Given the description of an element on the screen output the (x, y) to click on. 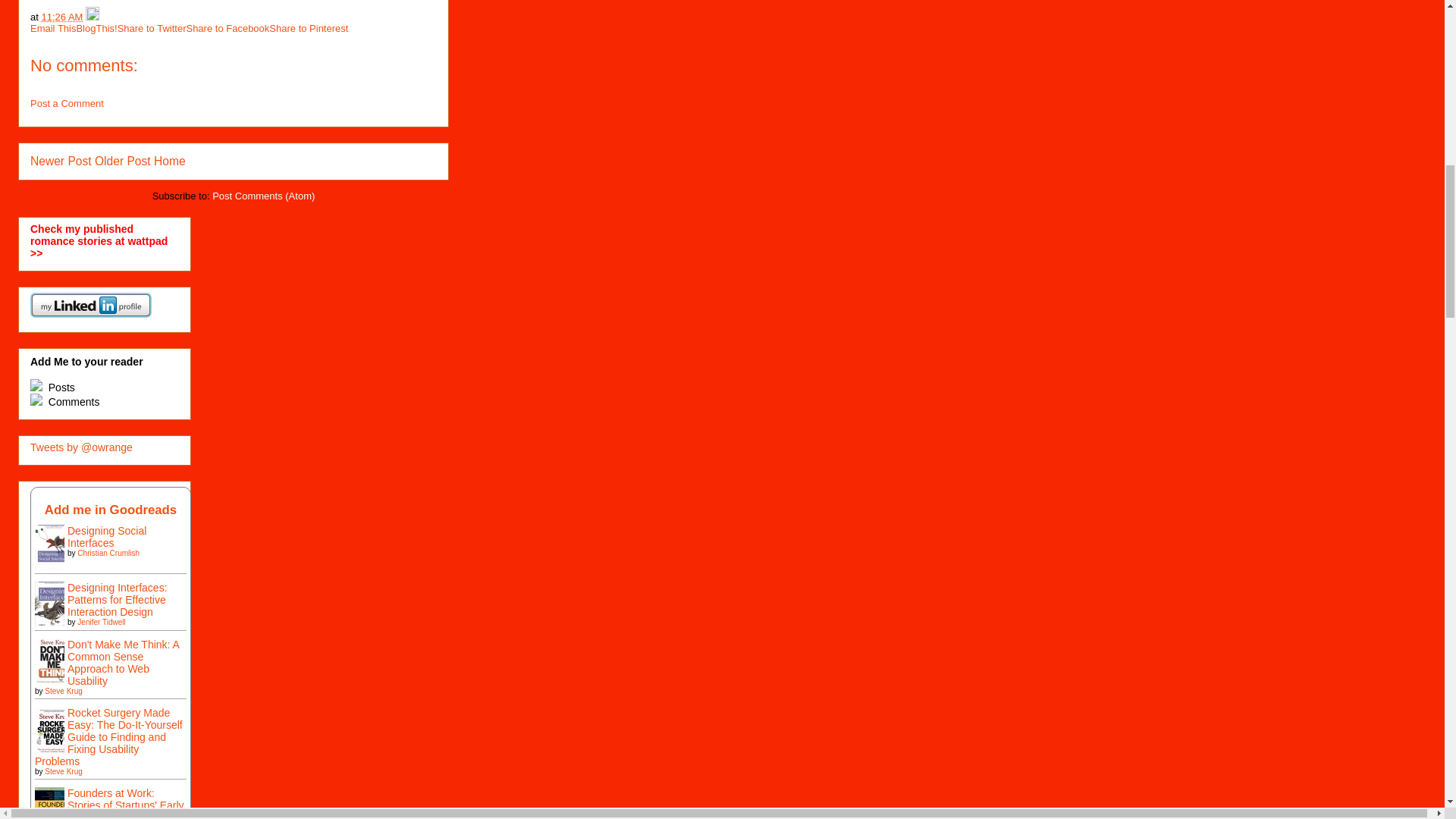
BlogThis! (95, 28)
Older Post (122, 160)
Share to Twitter (151, 28)
Edit Post (92, 16)
Newer Post (60, 160)
11:26 AM (61, 16)
Home (170, 160)
Share to Pinterest (308, 28)
Share to Facebook (227, 28)
Designing Social Interfaces (53, 571)
Jenifer Tidwell (101, 622)
Newer Post (60, 160)
Post a Comment (66, 102)
